Given the description of an element on the screen output the (x, y) to click on. 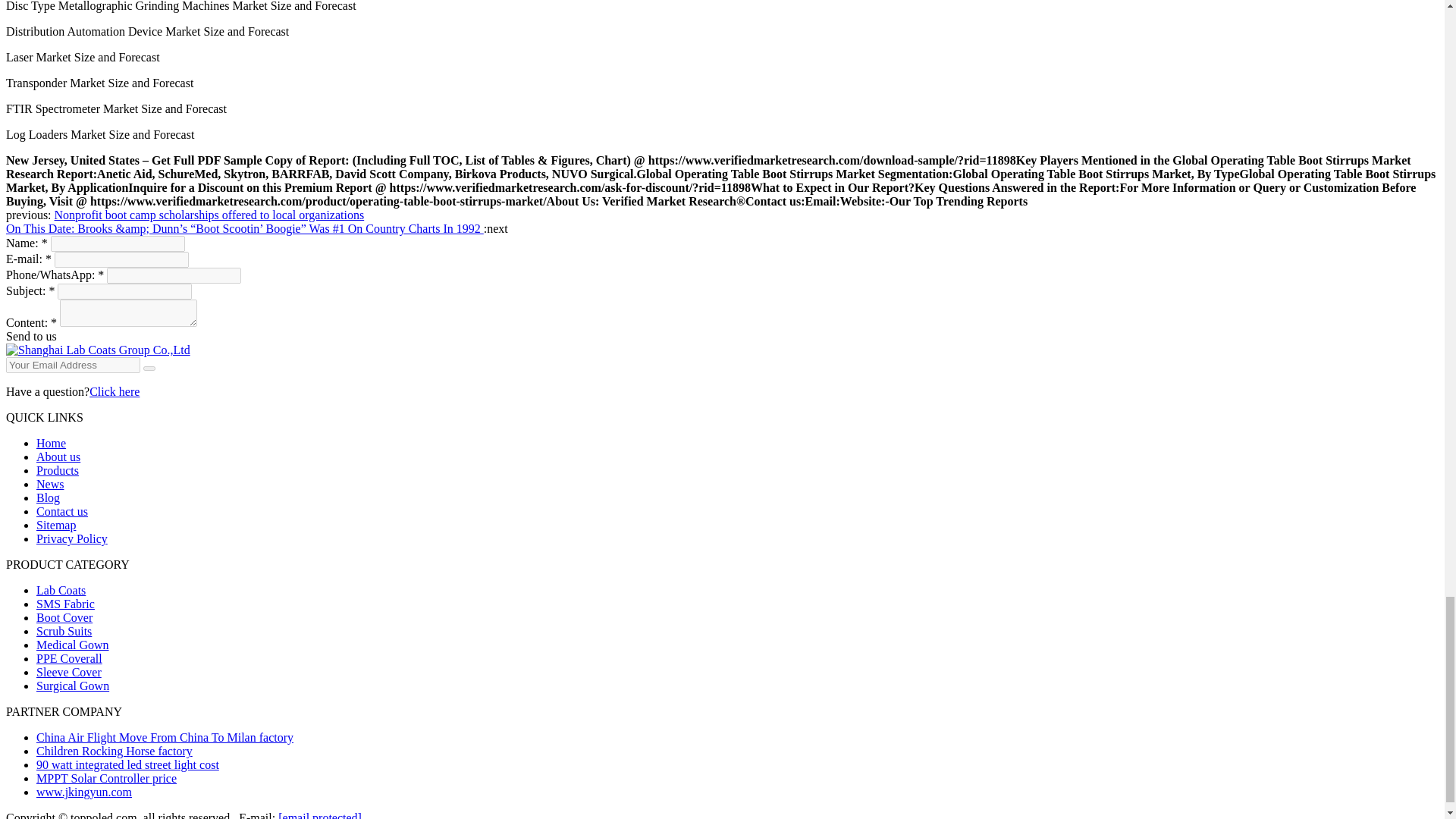
Email (148, 368)
Shanghai Lab Coats Group Co.,Ltd (97, 349)
